Given the description of an element on the screen output the (x, y) to click on. 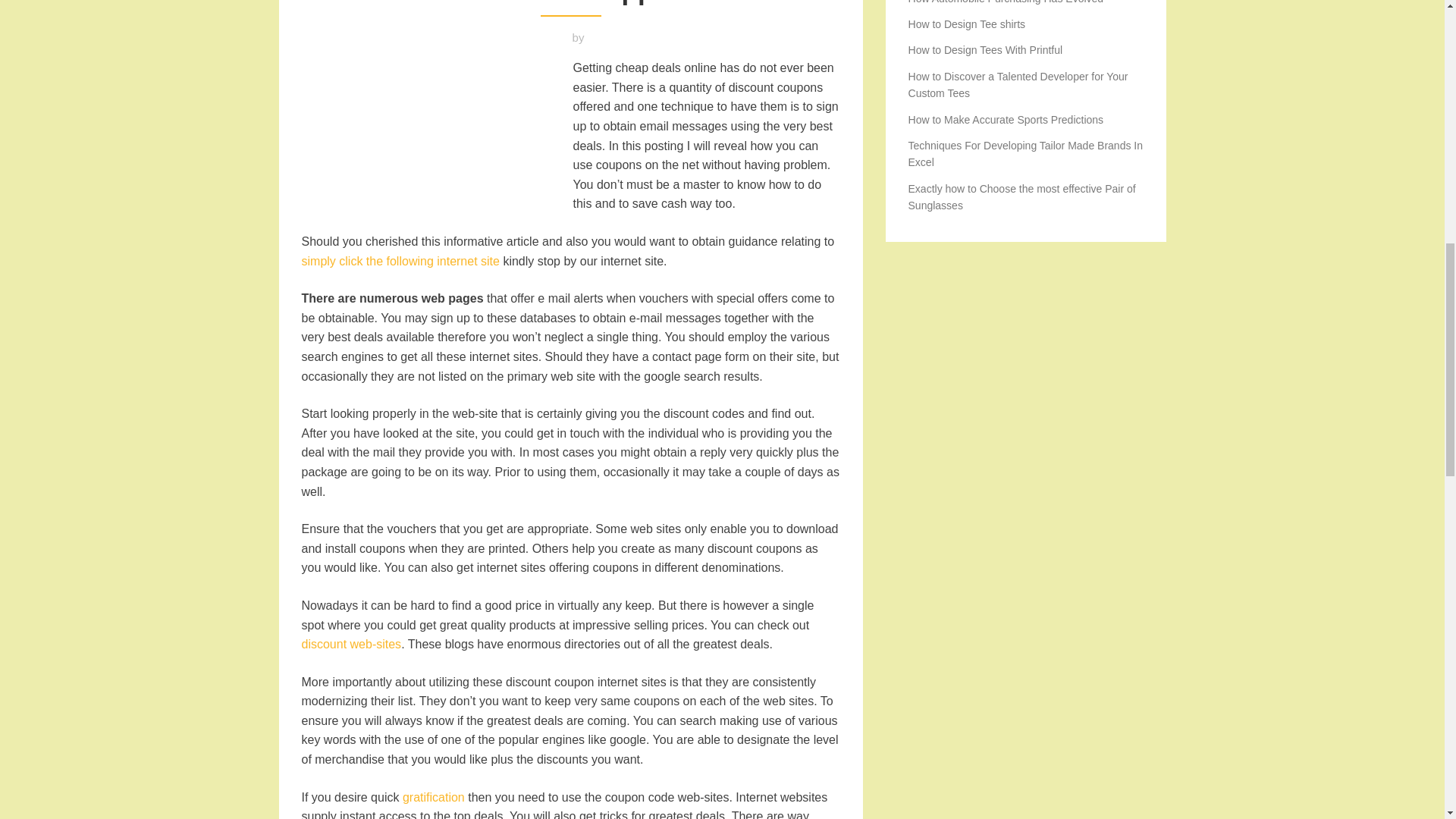
simply click the following internet site (400, 260)
discount web-sites (351, 644)
Exactly how to Choose the most effective Pair of Sunglasses (1021, 196)
How to Discover a Talented Developer for Your Custom Tees (1018, 84)
How Automobile Purchasing Has Evolved (1005, 2)
gratification (433, 797)
How to Design Tees With Printful (985, 50)
How to Make Accurate Sports Predictions (1005, 119)
Techniques For Developing Tailor Made Brands In Excel (1025, 153)
How to Design Tee shirts (967, 24)
